Given the description of an element on the screen output the (x, y) to click on. 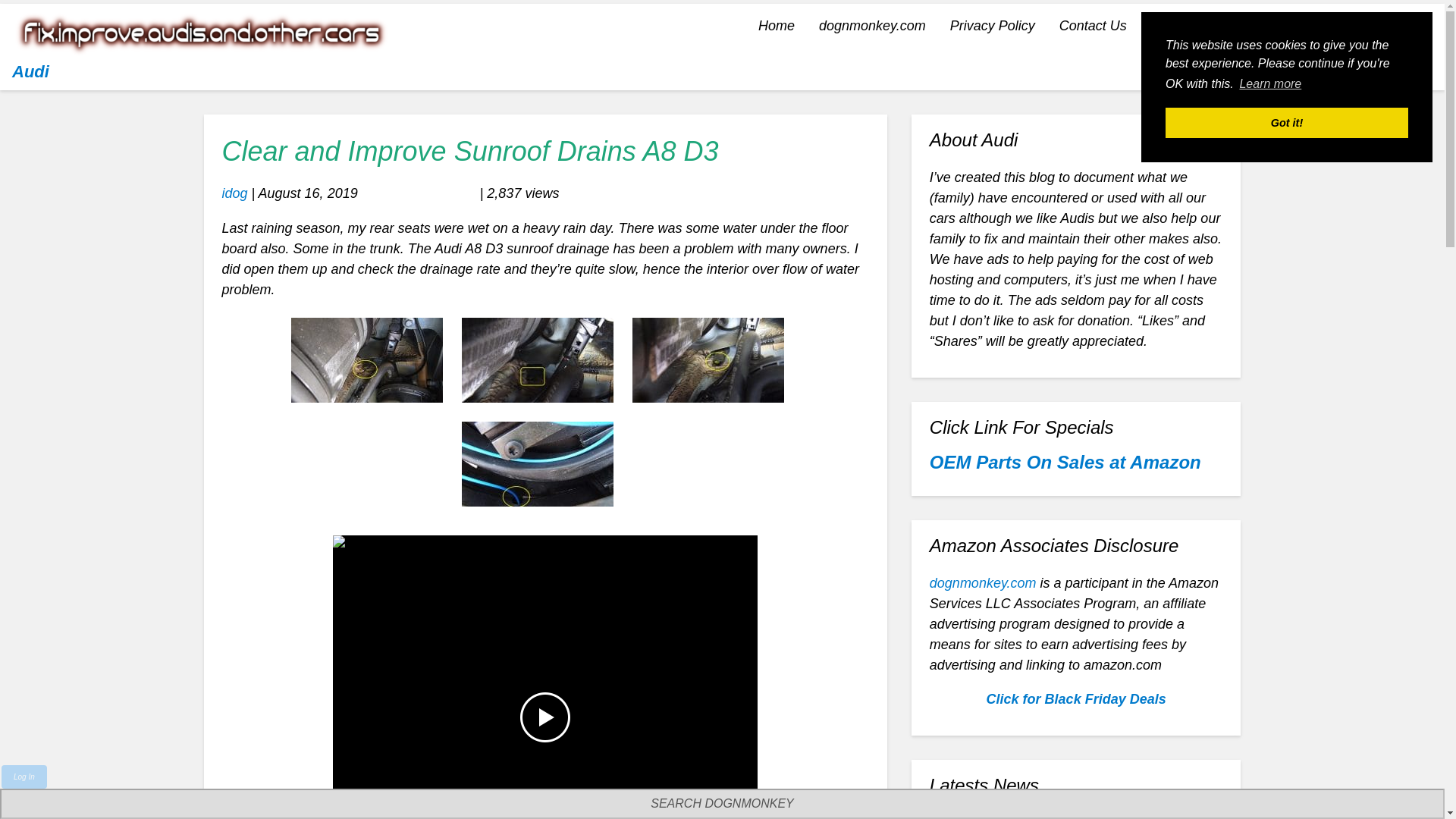
Our Privacy Policy (991, 25)
dognmonkey.com (871, 25)
Contact Us (1092, 25)
dognmonkey-blogs (1208, 25)
idog (234, 192)
Learn more (1269, 83)
dognmonkey-indexes (1355, 25)
Privacy Policy (991, 25)
Contact Us (1092, 25)
Got it! (1286, 122)
Home (775, 25)
Main Page (871, 25)
Audi (30, 71)
Audi (30, 71)
